Given the description of an element on the screen output the (x, y) to click on. 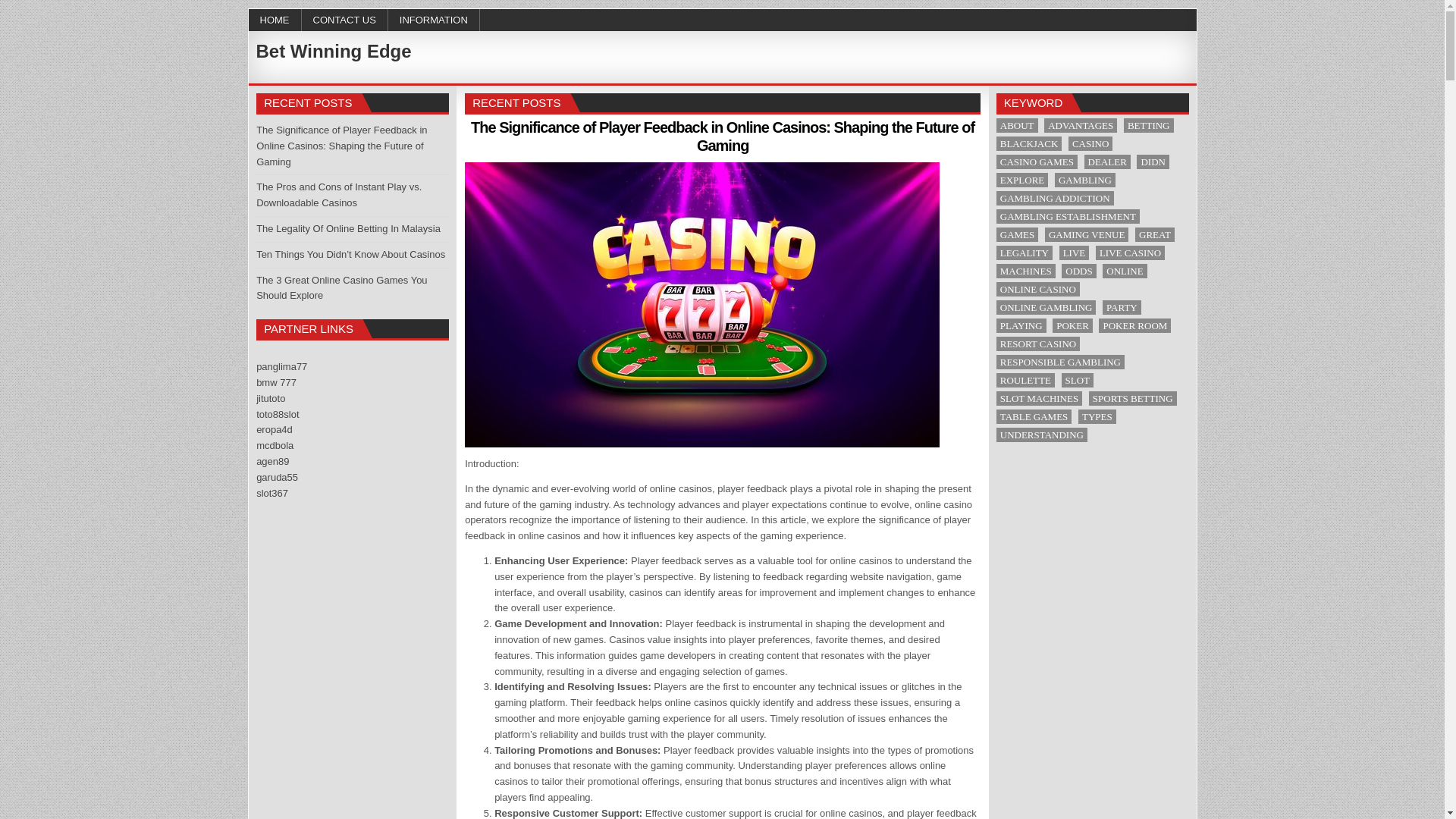
BLACKJACK (1028, 143)
GAMBLING (1084, 179)
panglima77 (281, 366)
The 3 Great Online Casino Games You Should Explore (341, 288)
ABOUT (1016, 124)
ADVANTAGES (1079, 124)
EXPLORE (1021, 179)
agen89 (272, 460)
bmw 777 (276, 382)
slot367 (272, 492)
CASINO GAMES (1036, 161)
garuda55 (277, 477)
eropa4d (274, 429)
